Given the description of an element on the screen output the (x, y) to click on. 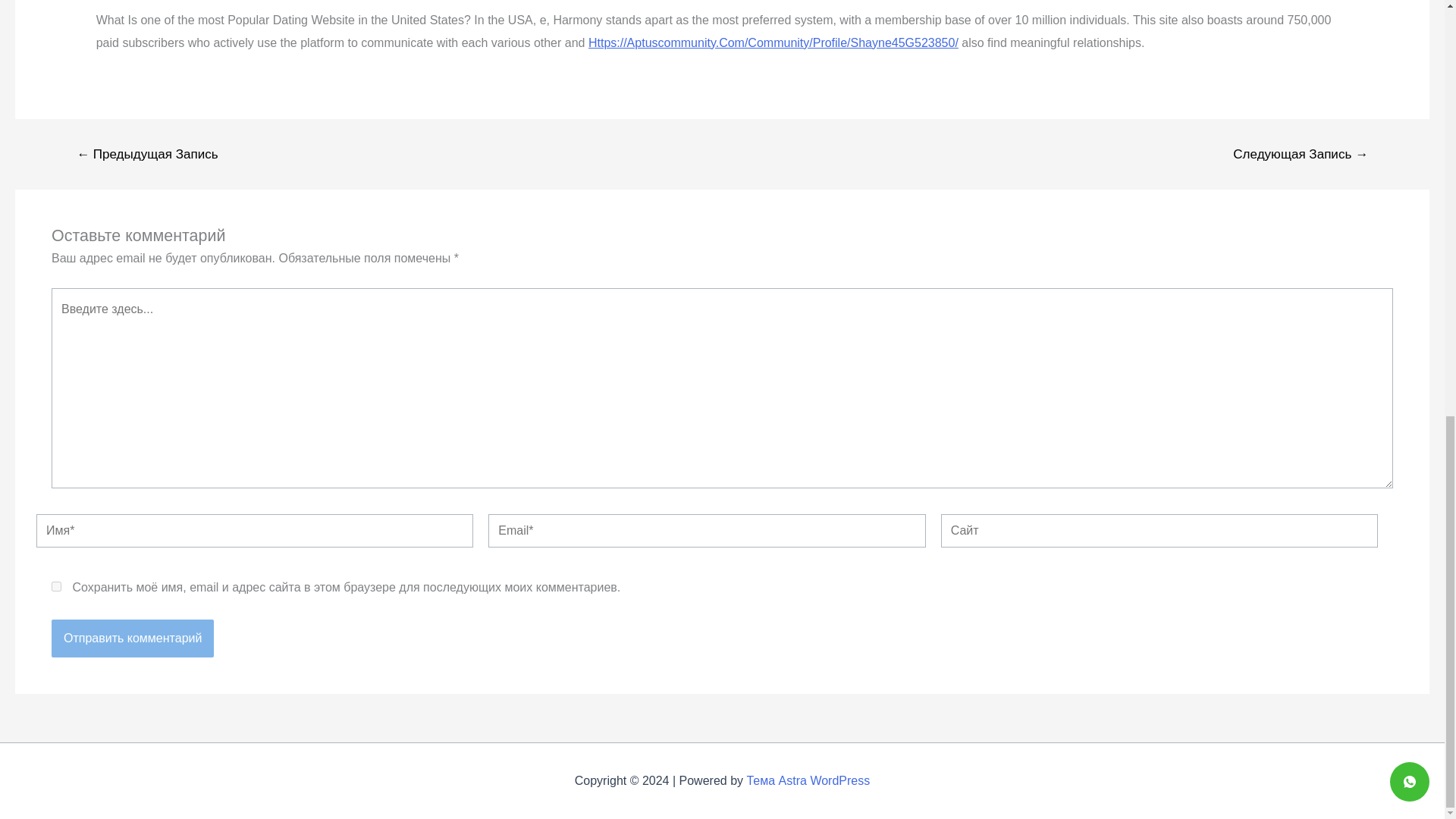
yes (55, 586)
